Given the description of an element on the screen output the (x, y) to click on. 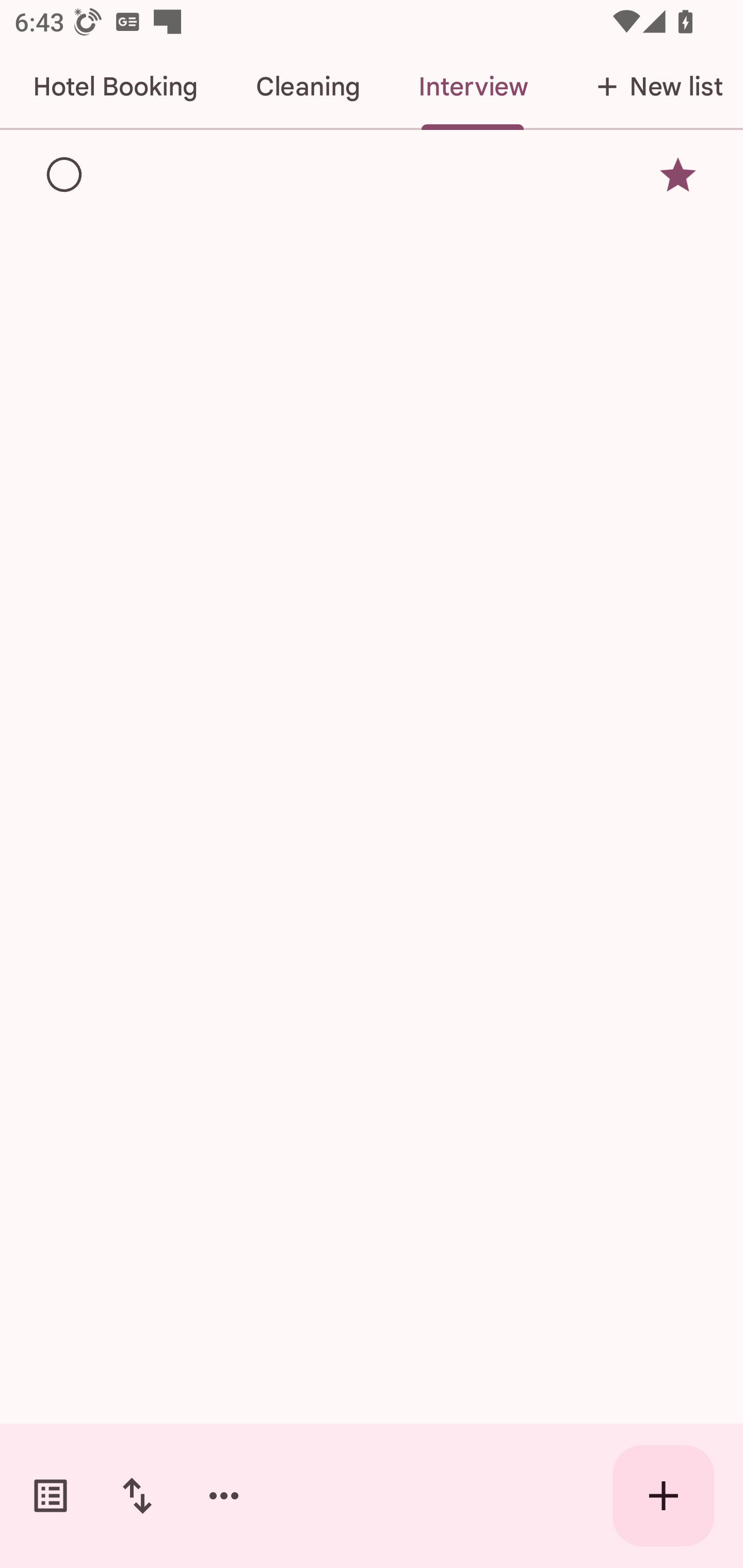
Hotel Booking (114, 86)
Cleaning (307, 86)
New list (649, 86)
(No title), Starred Remove star Mark as complete (371, 173)
Remove star (677, 174)
Mark as complete (64, 175)
Switch task lists (50, 1495)
Create new task (663, 1495)
Change sort order (136, 1495)
More options (223, 1495)
